Given the description of an element on the screen output the (x, y) to click on. 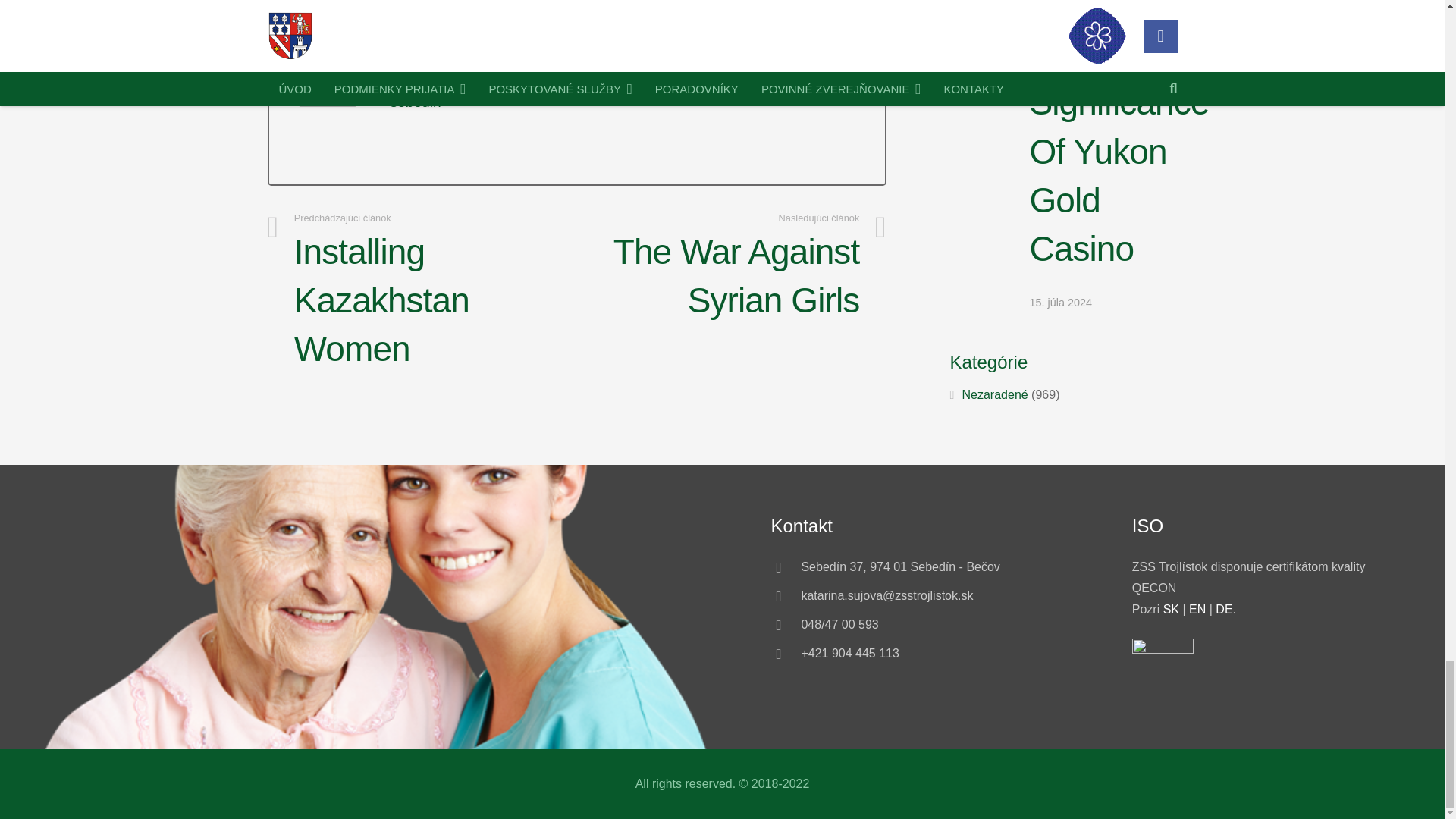
Share this (427, 25)
sebedin (415, 101)
Share this (473, 25)
Tweet this (380, 25)
Pin this (518, 25)
Share this (564, 25)
Email this (287, 25)
Share this (334, 25)
